Given the description of an element on the screen output the (x, y) to click on. 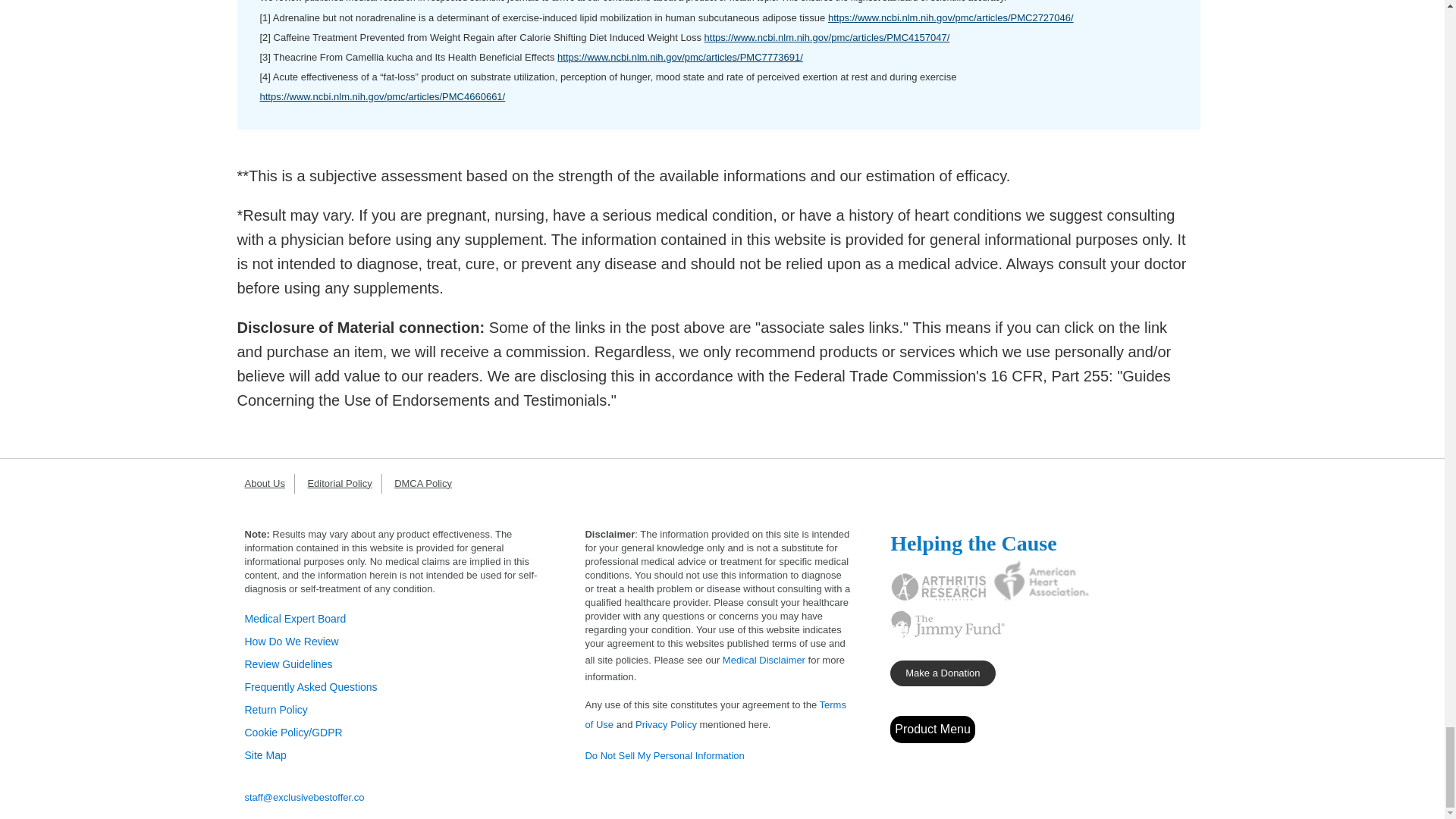
Editorial Policy (343, 482)
review guidelines (287, 664)
how do we do reviews (290, 641)
staff ExclusiveBestOffer (304, 797)
medical expert (295, 618)
About Us (269, 482)
sitemap (264, 755)
frequently asked questions (310, 686)
cookie policy (293, 732)
return policy (275, 709)
DMCA Policy (427, 482)
